Given the description of an element on the screen output the (x, y) to click on. 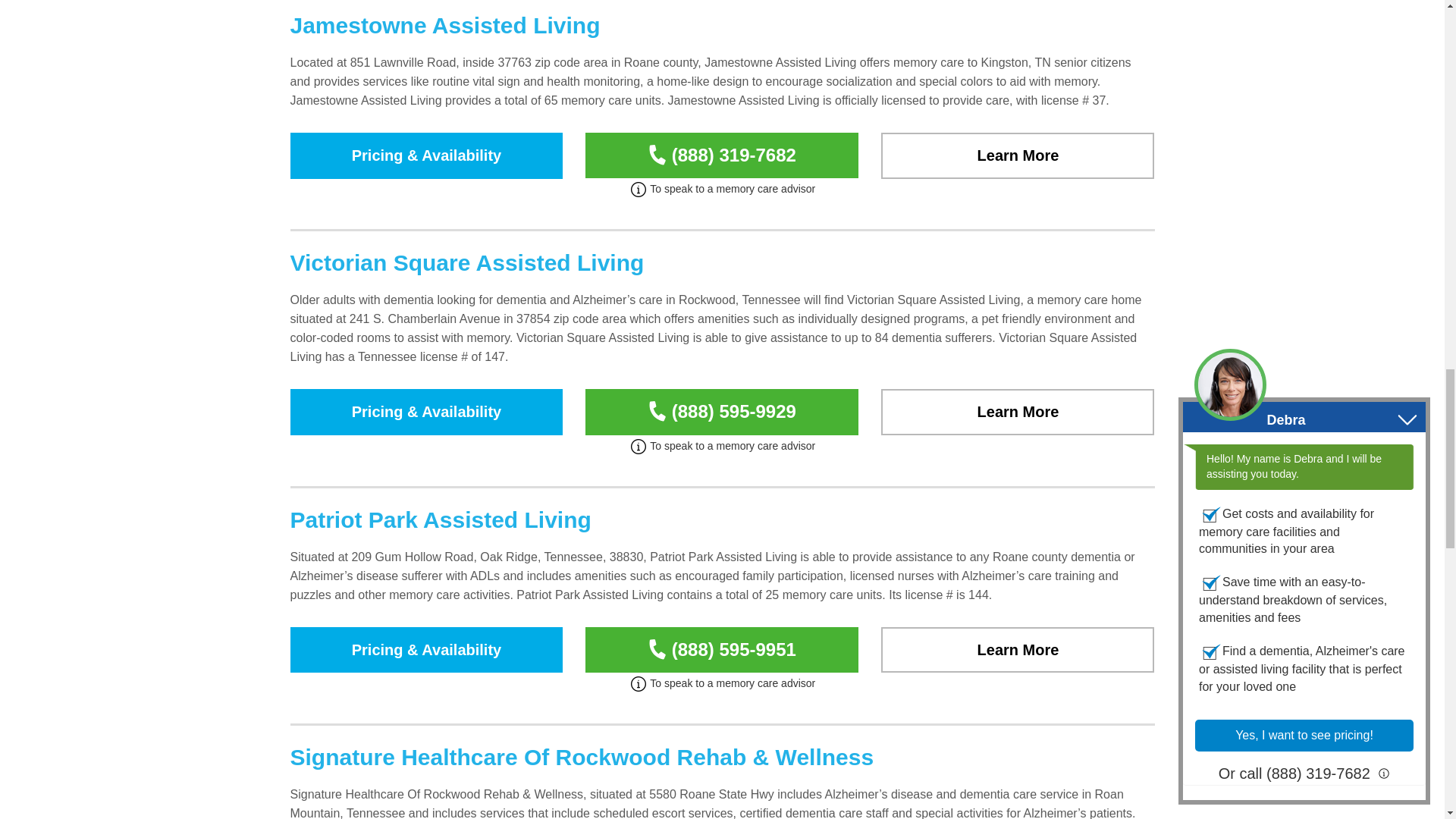
Learn More (1017, 155)
Learn More (1017, 155)
Learn More (1017, 411)
Learn More (1017, 649)
